Given the description of an element on the screen output the (x, y) to click on. 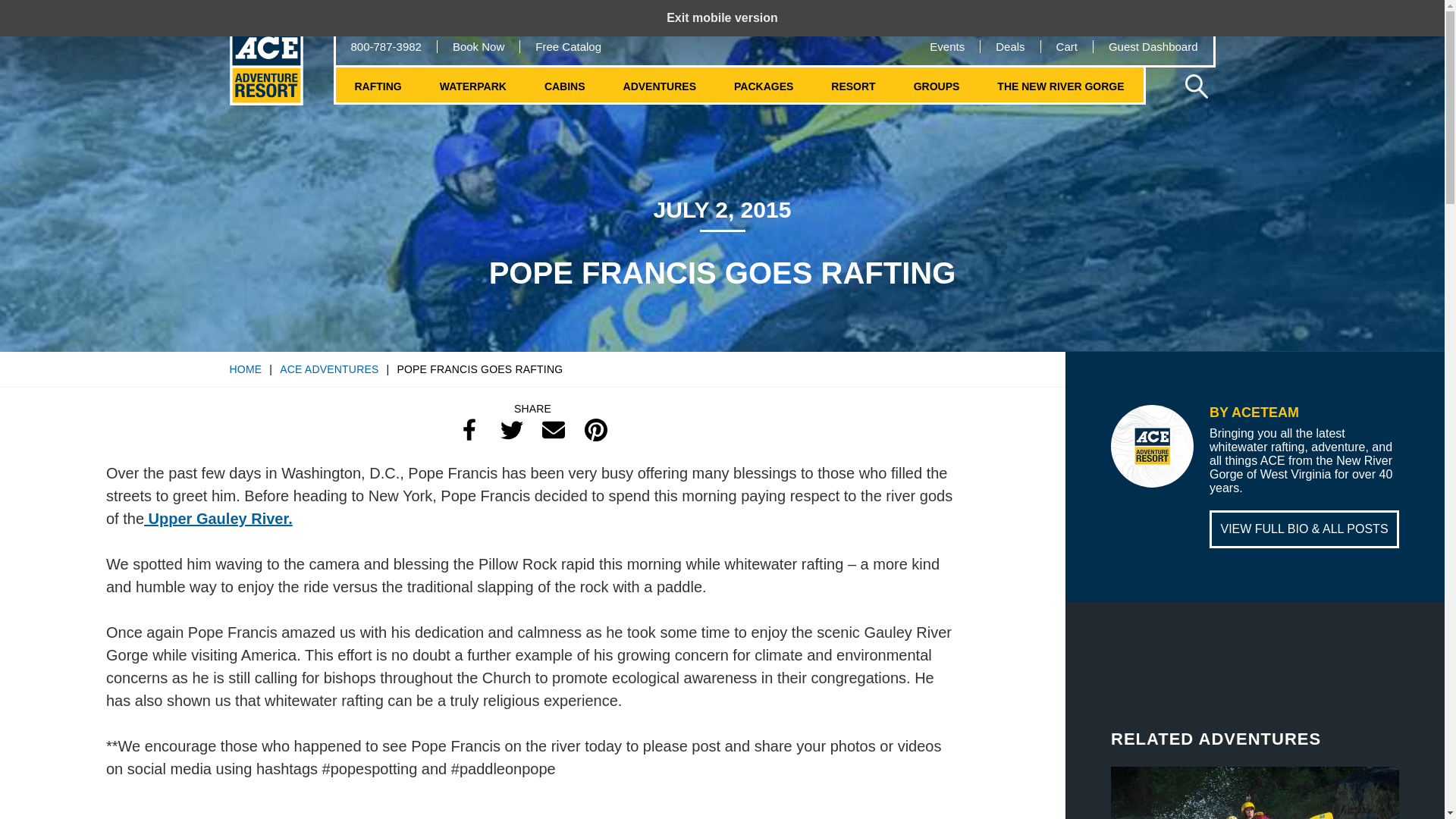
Deals (1010, 46)
800-787-3982 (385, 46)
Guest Dashboard (1153, 46)
PACKAGES (763, 86)
THE NEW RIVER GORGE (1060, 86)
CABINS (564, 86)
Cart (1067, 46)
HOME (245, 369)
GROUPS (936, 86)
WATERPARK (472, 86)
